Given the description of an element on the screen output the (x, y) to click on. 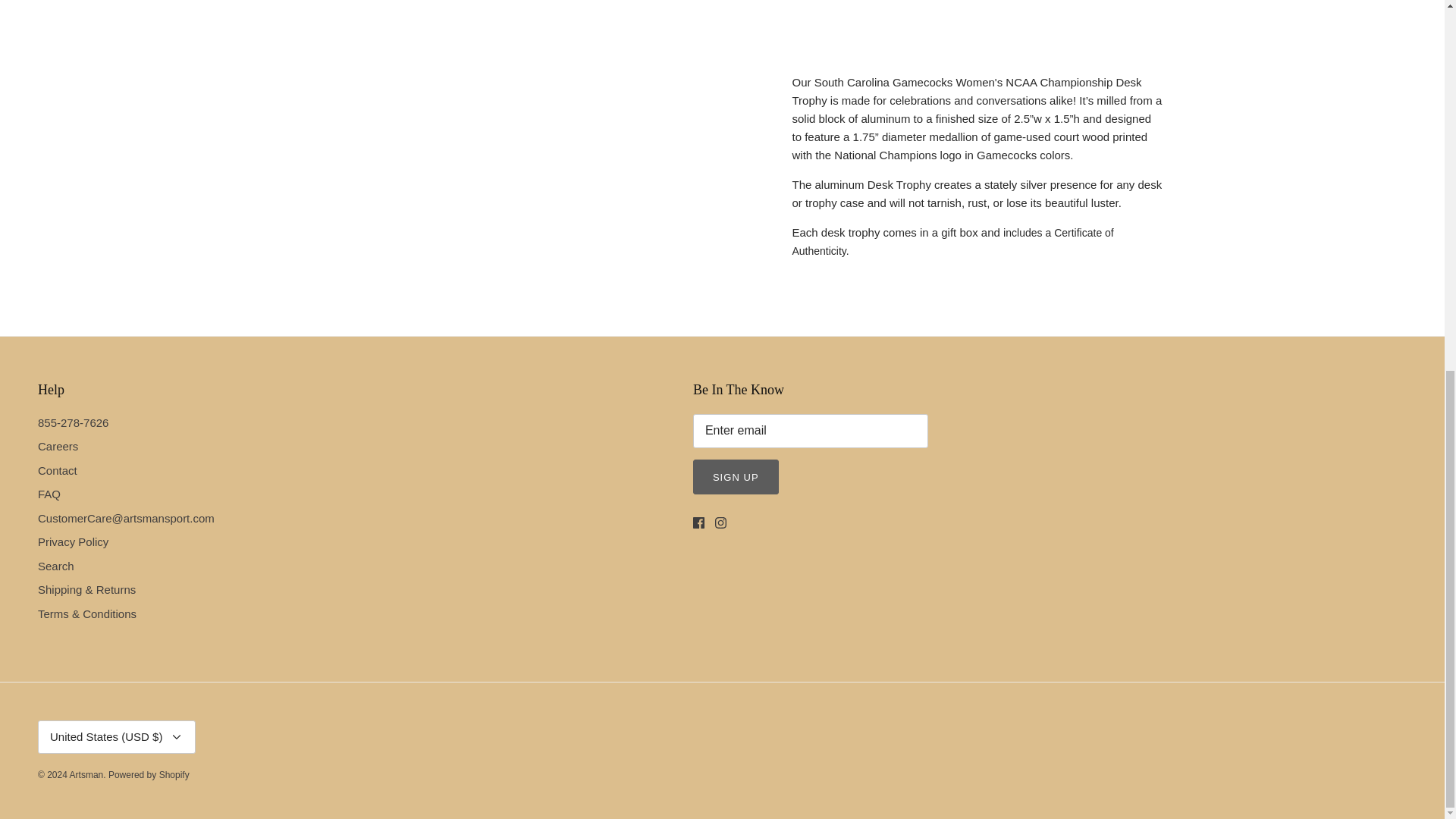
Facebook (698, 522)
Down (176, 736)
Instagram (720, 522)
